Given the description of an element on the screen output the (x, y) to click on. 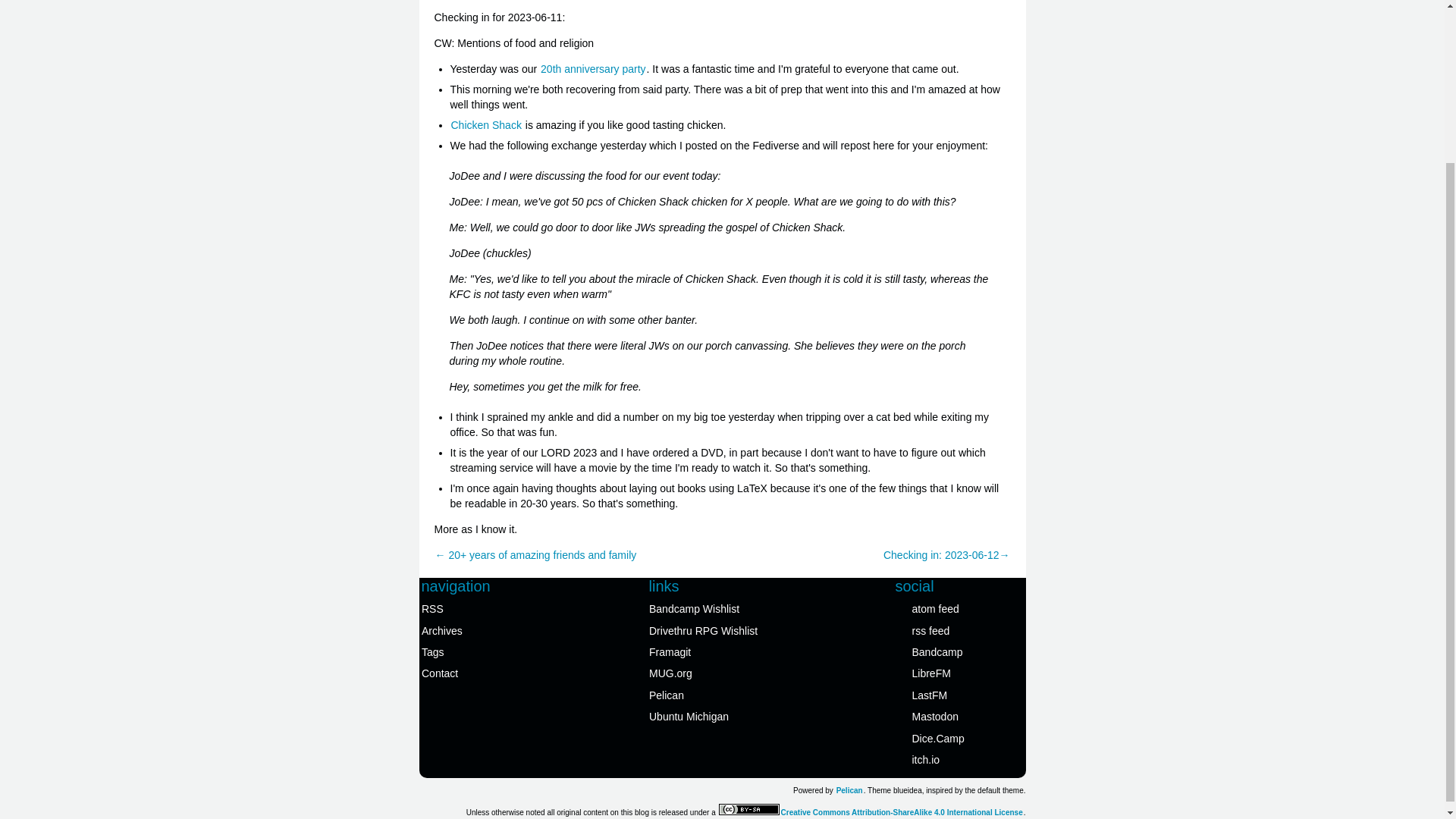
Ubuntu Michigan (716, 716)
Pelican (716, 694)
Bandcamp Wishlist (716, 608)
LastFM (959, 694)
Dice.Camp (959, 737)
Drivethru RPG Wishlist (716, 630)
Framagit (716, 651)
atom feed (959, 608)
Mastodon (959, 716)
Pelican (849, 790)
MUG.org (716, 672)
Contact (489, 672)
Chicken Shack (485, 124)
LibreFM (959, 672)
